Given the description of an element on the screen output the (x, y) to click on. 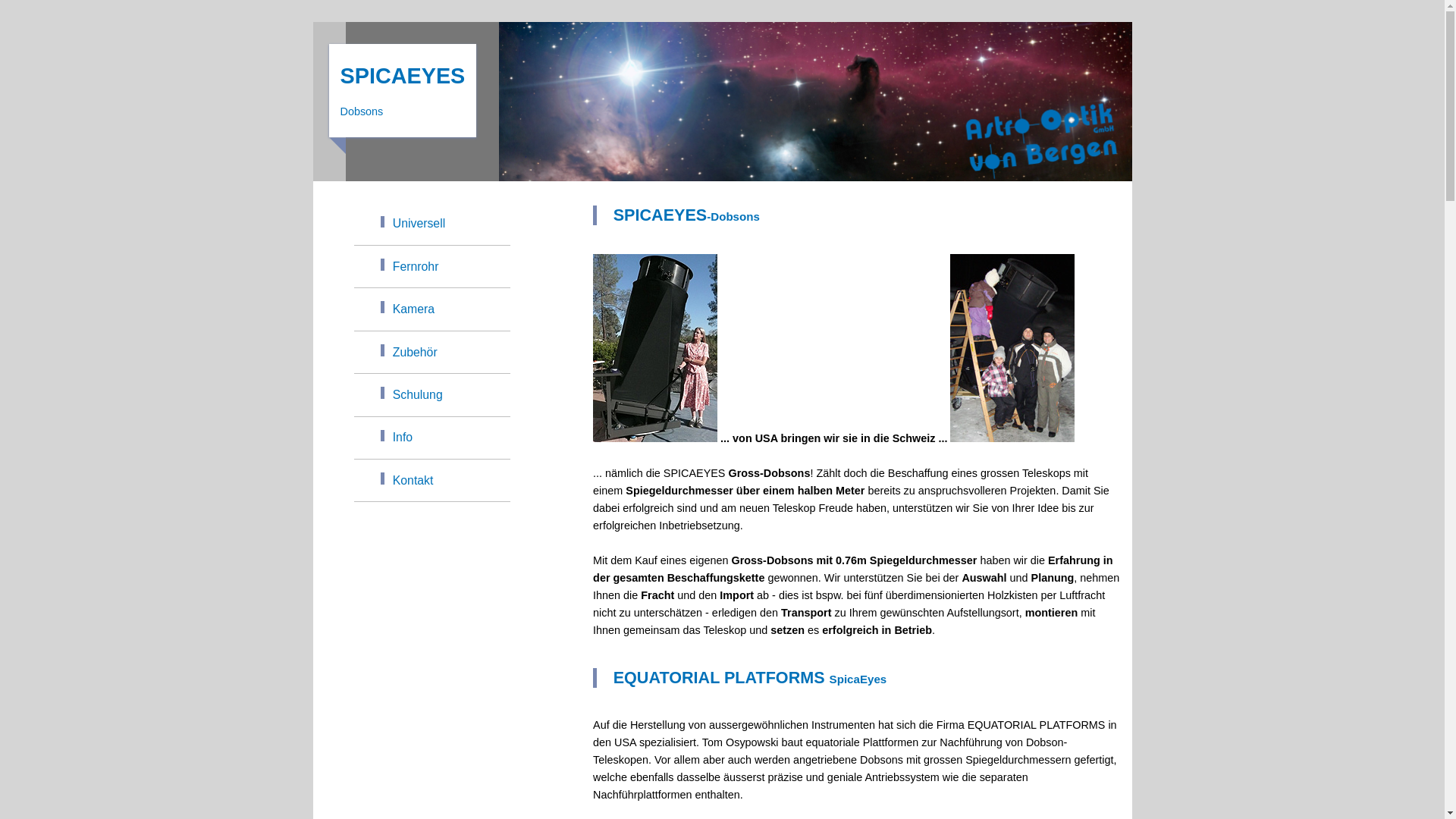
Universell Element type: text (432, 224)
Kontakt Element type: text (432, 480)
SPICAEYES
Dobsons Element type: text (402, 90)
Fernrohr Element type: text (432, 266)
Schulung Element type: text (432, 394)
Kamera Element type: text (432, 309)
Info Element type: text (432, 438)
